Given the description of an element on the screen output the (x, y) to click on. 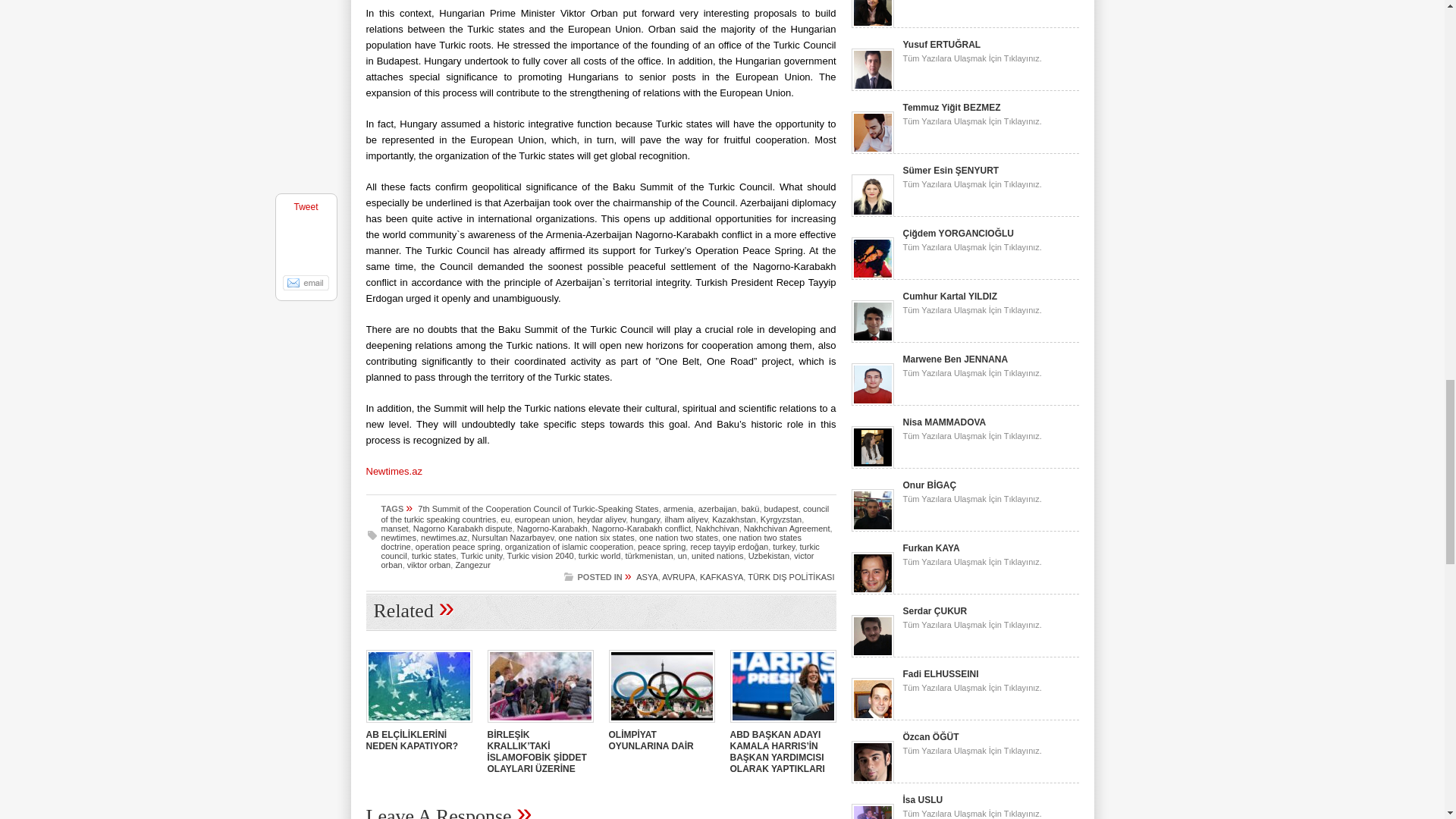
council of the turkic speaking countries (604, 514)
Newtimes.az (393, 471)
armenia (678, 508)
budapest (780, 508)
azerbaijan (717, 508)
